Given the description of an element on the screen output the (x, y) to click on. 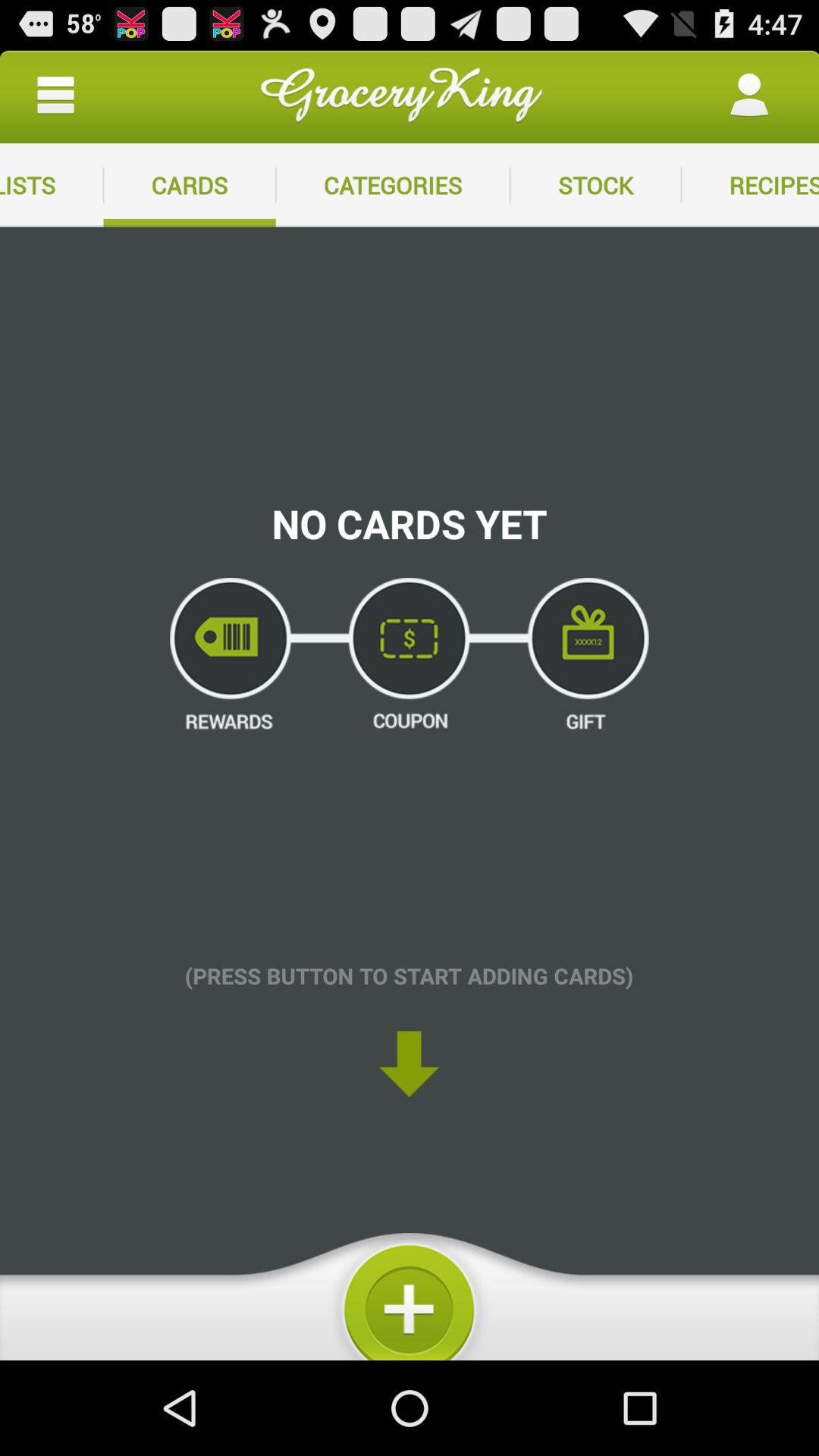
select item next to the cards (392, 184)
